Given the description of an element on the screen output the (x, y) to click on. 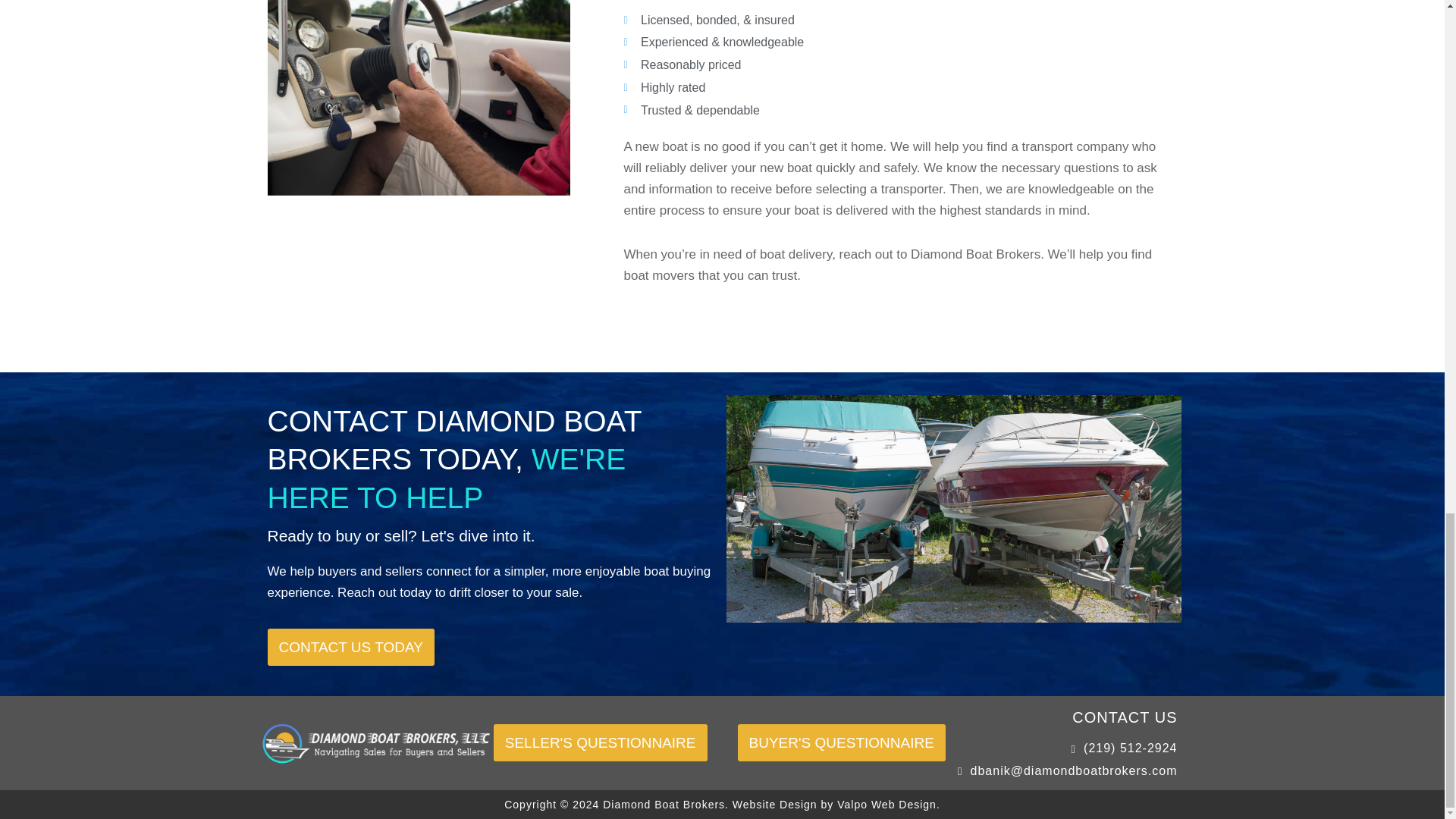
Valpo Web Design. (888, 804)
BUYER'S QUESTIONNAIRE (840, 742)
SELLER'S QUESTIONNAIRE (600, 742)
CONTACT US TODAY (349, 646)
